Given the description of an element on the screen output the (x, y) to click on. 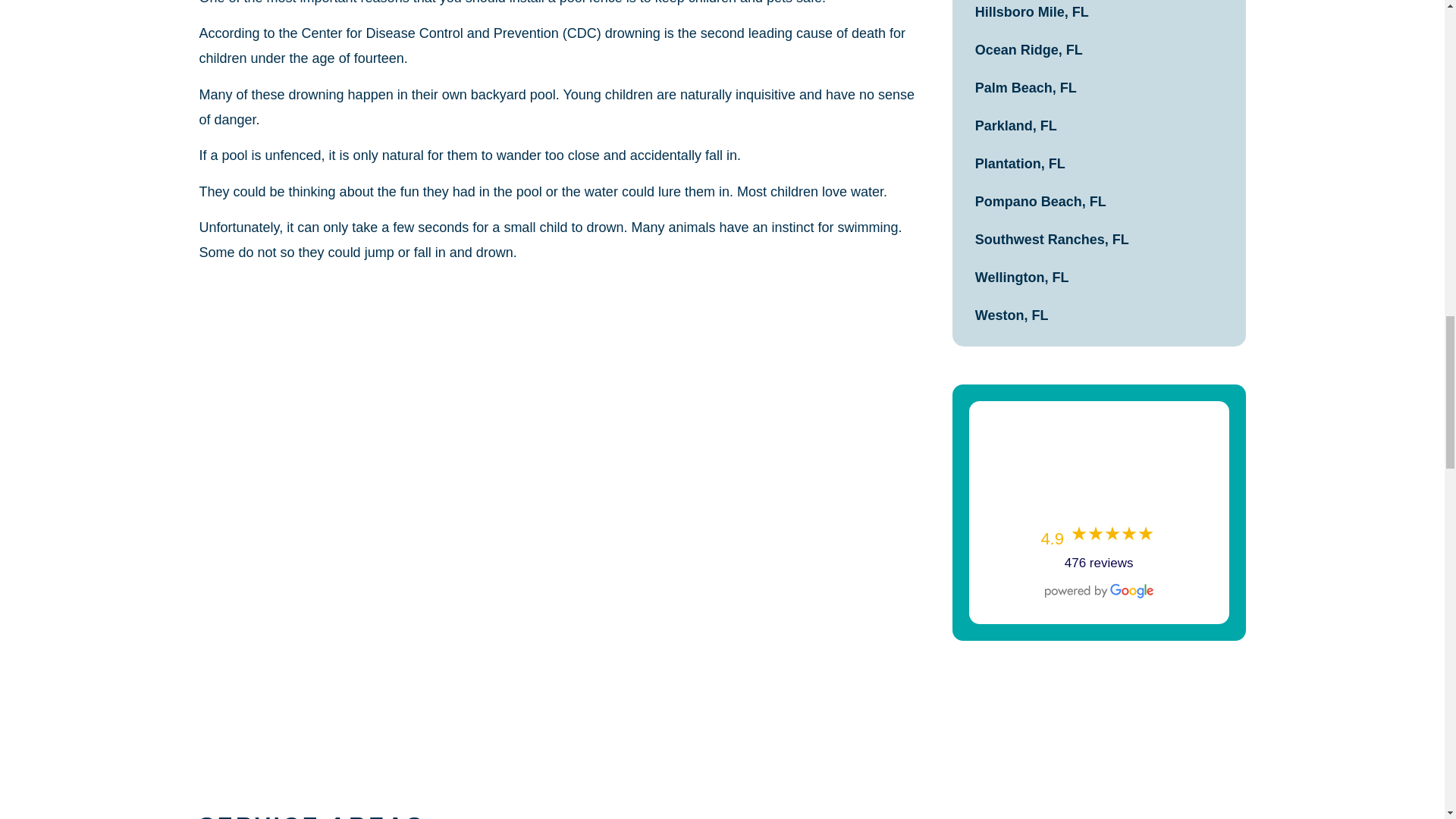
Powered by Google (1099, 590)
